Given the description of an element on the screen output the (x, y) to click on. 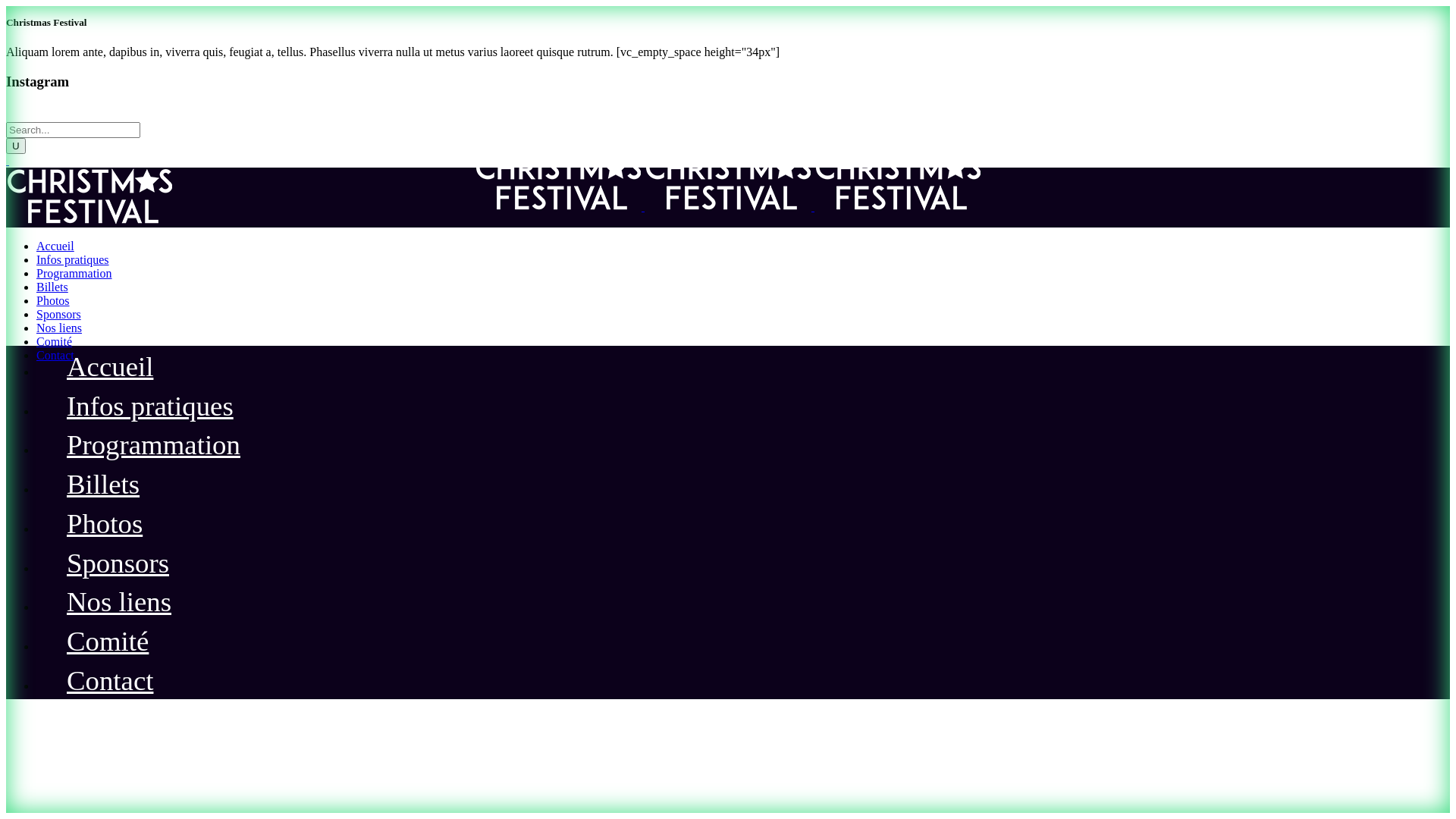
Infos pratiques Element type: text (149, 407)
Sponsors Element type: text (117, 564)
Billets Element type: text (102, 486)
  Element type: text (7, 159)
Nos liens Element type: text (58, 327)
U Element type: text (15, 145)
Programmation Element type: text (74, 272)
Programmation Element type: text (153, 446)
Infos pratiques Element type: text (72, 259)
Photos Element type: text (52, 300)
Photos Element type: text (104, 525)
Accueil Element type: text (55, 245)
Contact Element type: text (55, 354)
Contact Element type: text (109, 682)
Billets Element type: text (52, 286)
Nos liens Element type: text (118, 603)
Accueil Element type: text (109, 368)
Sponsors Element type: text (58, 313)
